Given the description of an element on the screen output the (x, y) to click on. 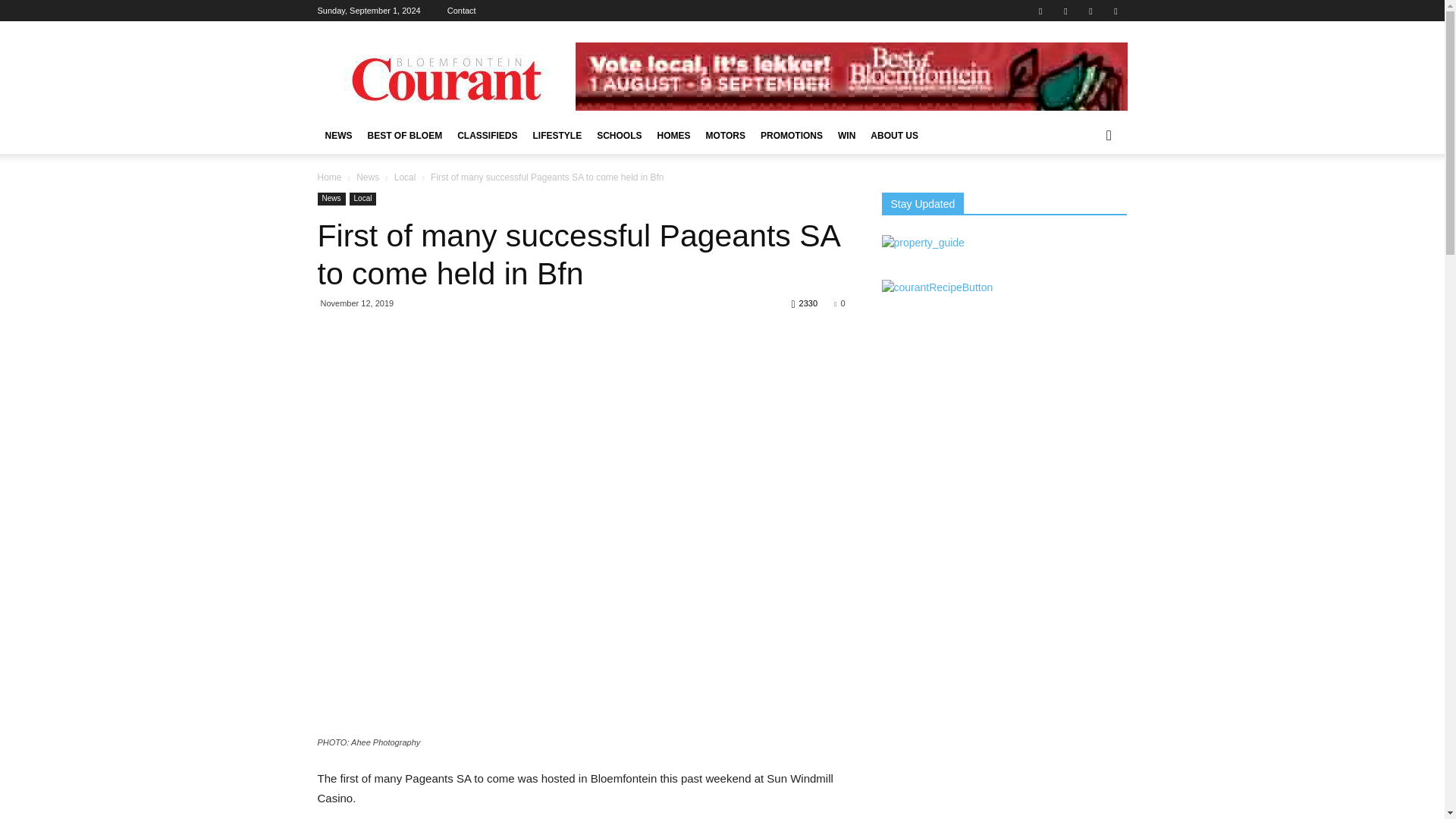
Youtube (1114, 10)
Twitter (1090, 10)
Facebook (1040, 10)
Bloemfontein Courant - News you can use (445, 76)
Mail (1065, 10)
